Given the description of an element on the screen output the (x, y) to click on. 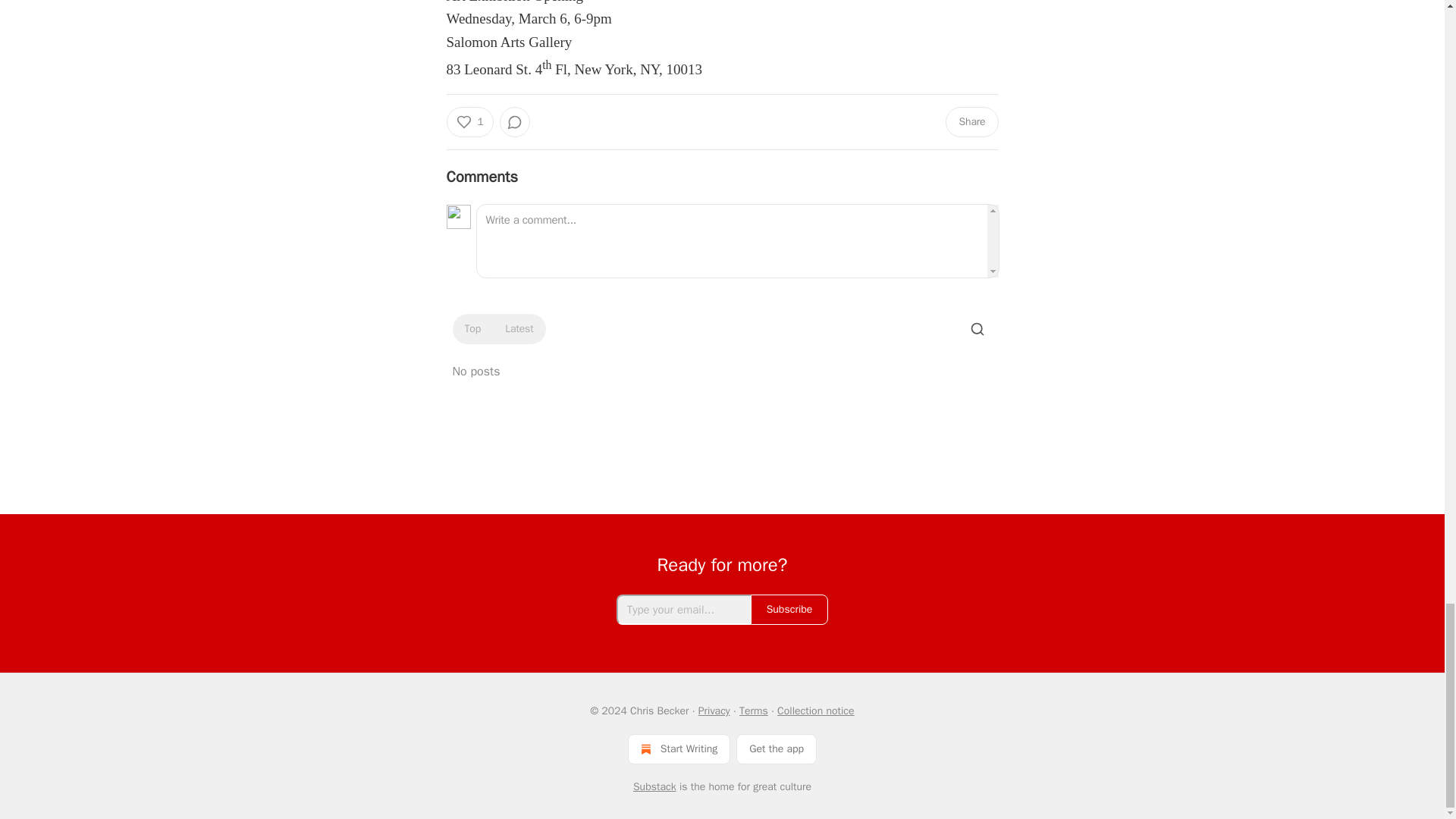
Share (970, 122)
1 (469, 122)
Privacy (714, 710)
Latest (518, 328)
Terms (753, 710)
Top (471, 328)
Subscribe (789, 609)
